Given the description of an element on the screen output the (x, y) to click on. 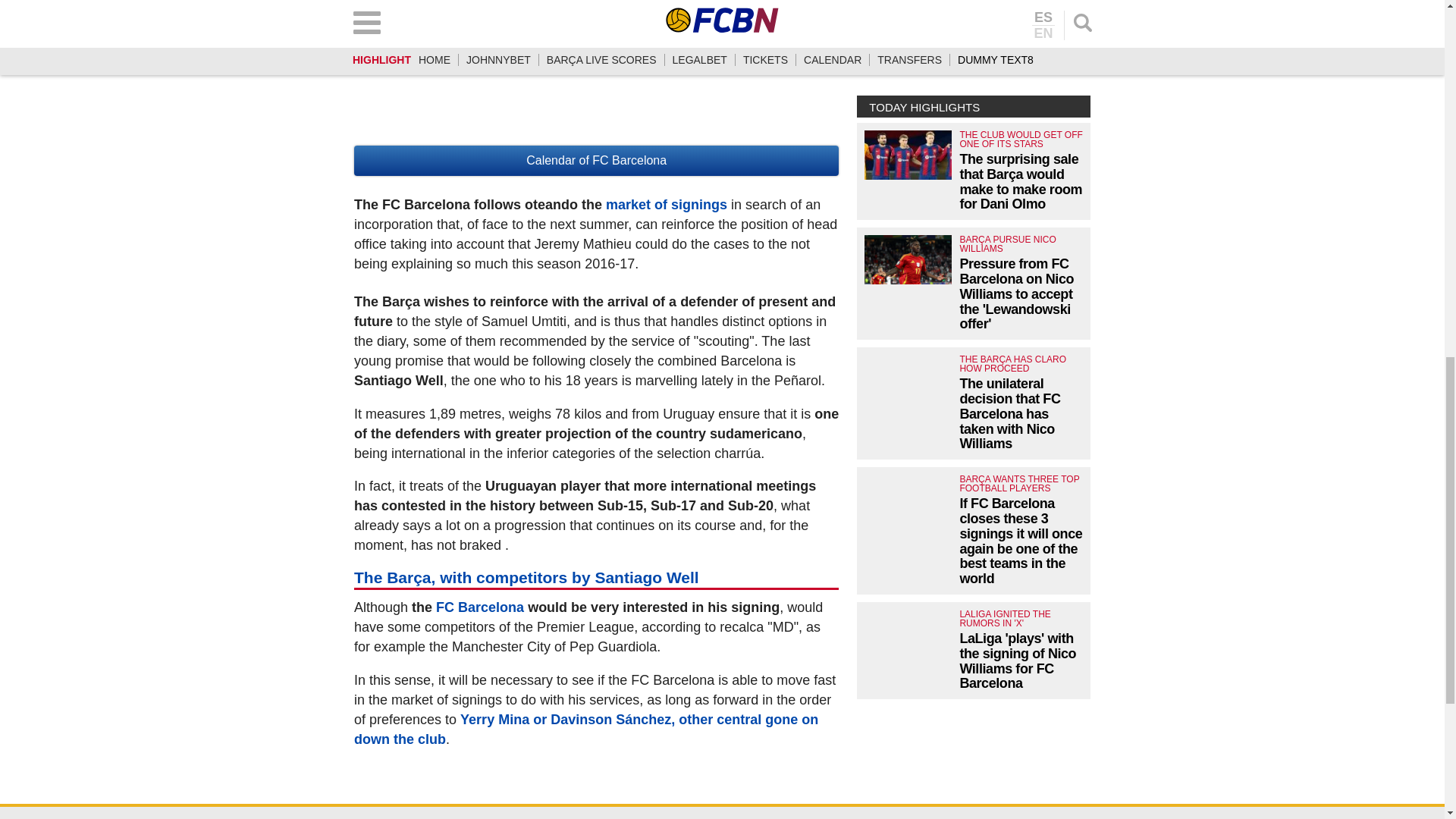
market of signings (665, 204)
Calendar of FC Barcelona (595, 160)
